Given the description of an element on the screen output the (x, y) to click on. 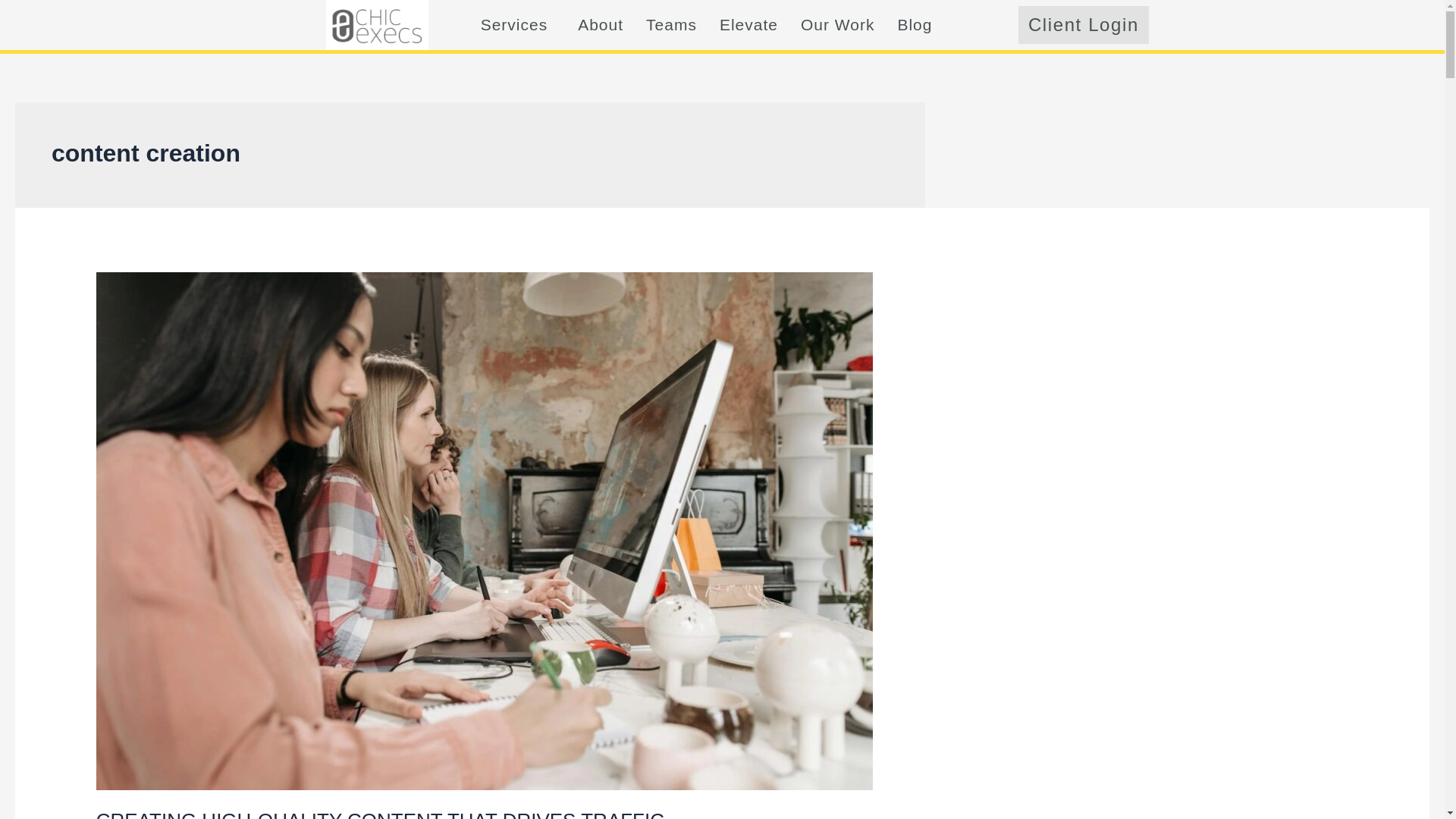
CREATING HIGH-QUALITY CONTENT THAT DRIVES TRAFFIC (379, 814)
Blog (914, 24)
Elevate (748, 24)
Our Work (837, 24)
About (600, 24)
Teams (670, 24)
Services (517, 24)
Client Login (1082, 24)
